Given the description of an element on the screen output the (x, y) to click on. 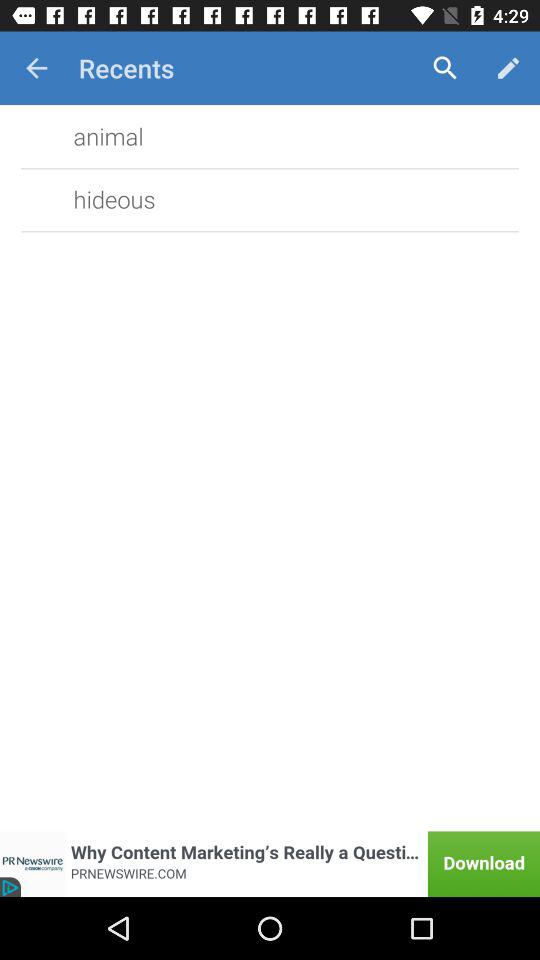
tap icon next to the recents icon (444, 67)
